Given the description of an element on the screen output the (x, y) to click on. 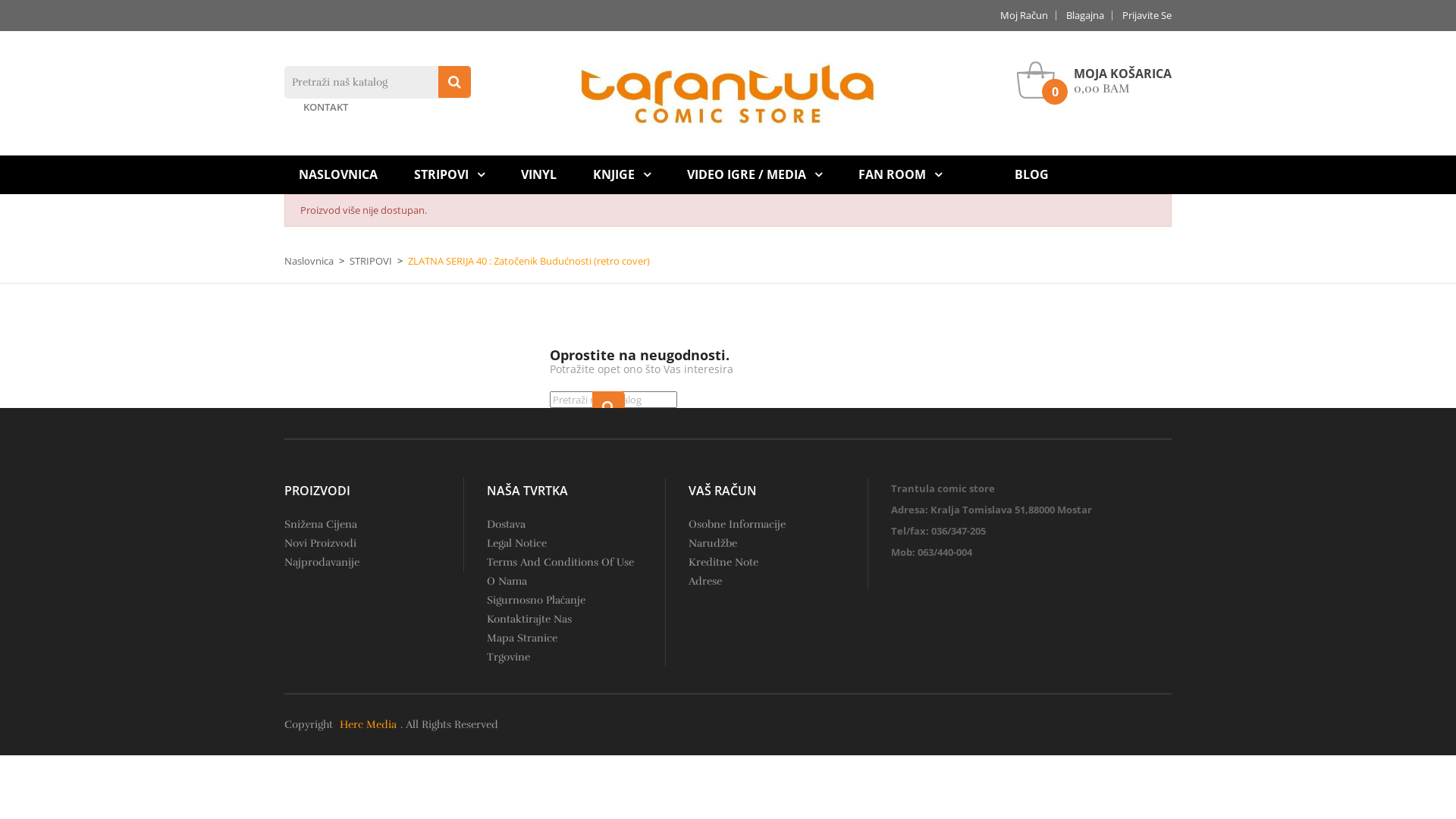
Mapa Stranice Element type: text (521, 637)
KONTAKT Element type: text (325, 107)
Adrese Element type: text (704, 580)
Blagajna Element type: text (1085, 15)
Naslovnica Element type: text (308, 261)
NASLOVNICA Element type: text (338, 174)
KNJIGE Element type: text (621, 174)
VIDEO IGRE / MEDIA Element type: text (754, 174)
BLOG Element type: text (1031, 174)
Novi Proizvodi Element type: text (320, 542)
O Nama Element type: text (506, 580)
Najprodavanije Element type: text (321, 561)
FAN ROOM Element type: text (900, 174)
Prijavite Se Element type: text (1142, 15)
Osobne Informacije Element type: text (736, 523)
STRIPOVI Element type: text (370, 261)
Terms And Conditions Of Use Element type: text (559, 561)
Kontaktirajte Nas Element type: text (528, 618)
Trgovine Element type: text (508, 656)
VINYL Element type: text (538, 174)
Dostava Element type: text (505, 523)
STRIPOVI Element type: text (448, 174)
Kreditne Note Element type: text (723, 561)
Herc Media Element type: text (367, 724)
Legal Notice Element type: text (516, 542)
